Given the description of an element on the screen output the (x, y) to click on. 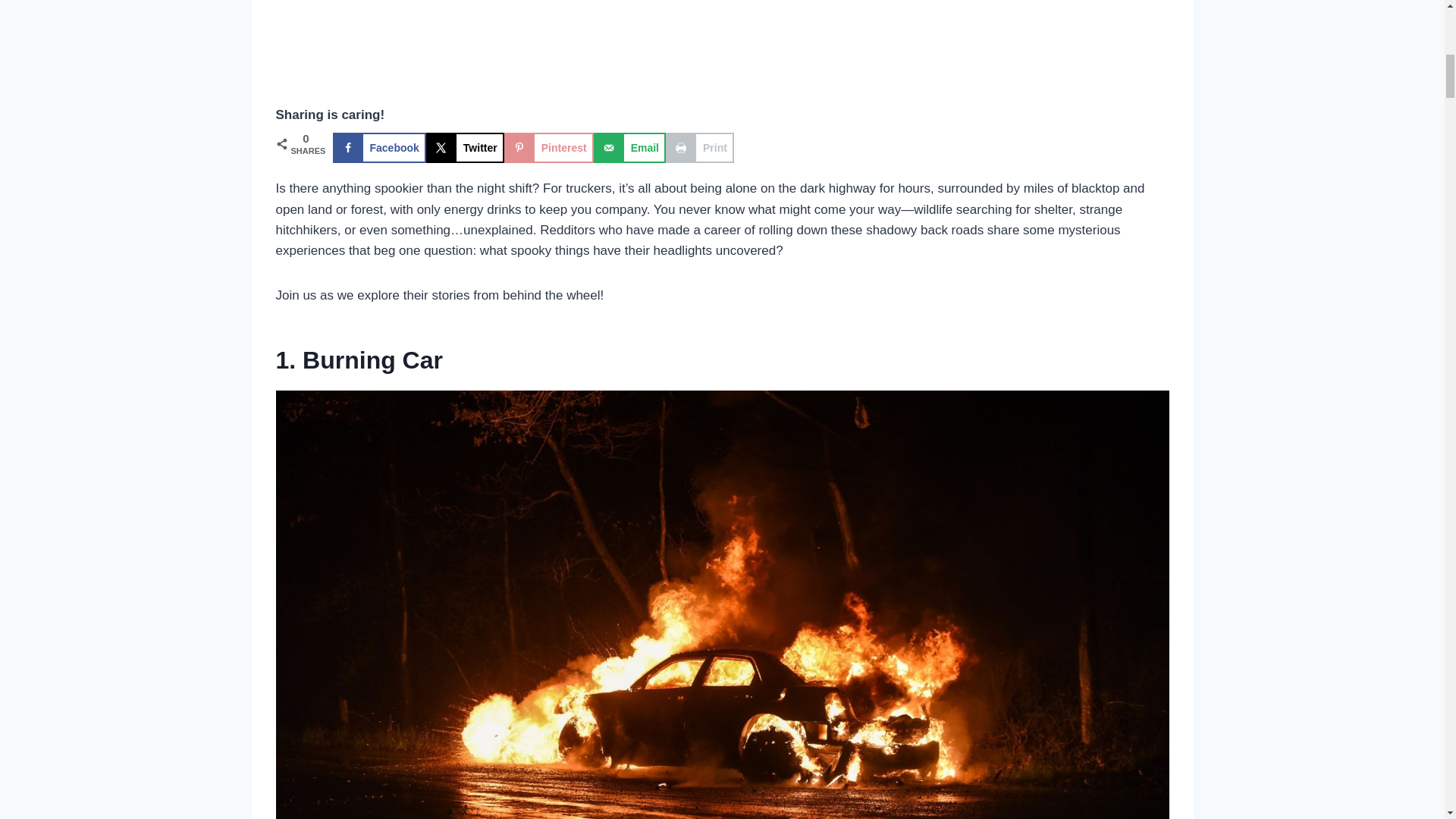
Print this webpage (699, 147)
Twitter (464, 147)
Email (629, 147)
Print (699, 147)
Pinterest (548, 147)
Share on Facebook (378, 147)
Share on X (464, 147)
Send over email (629, 147)
Save to Pinterest (548, 147)
Facebook (378, 147)
